Given the description of an element on the screen output the (x, y) to click on. 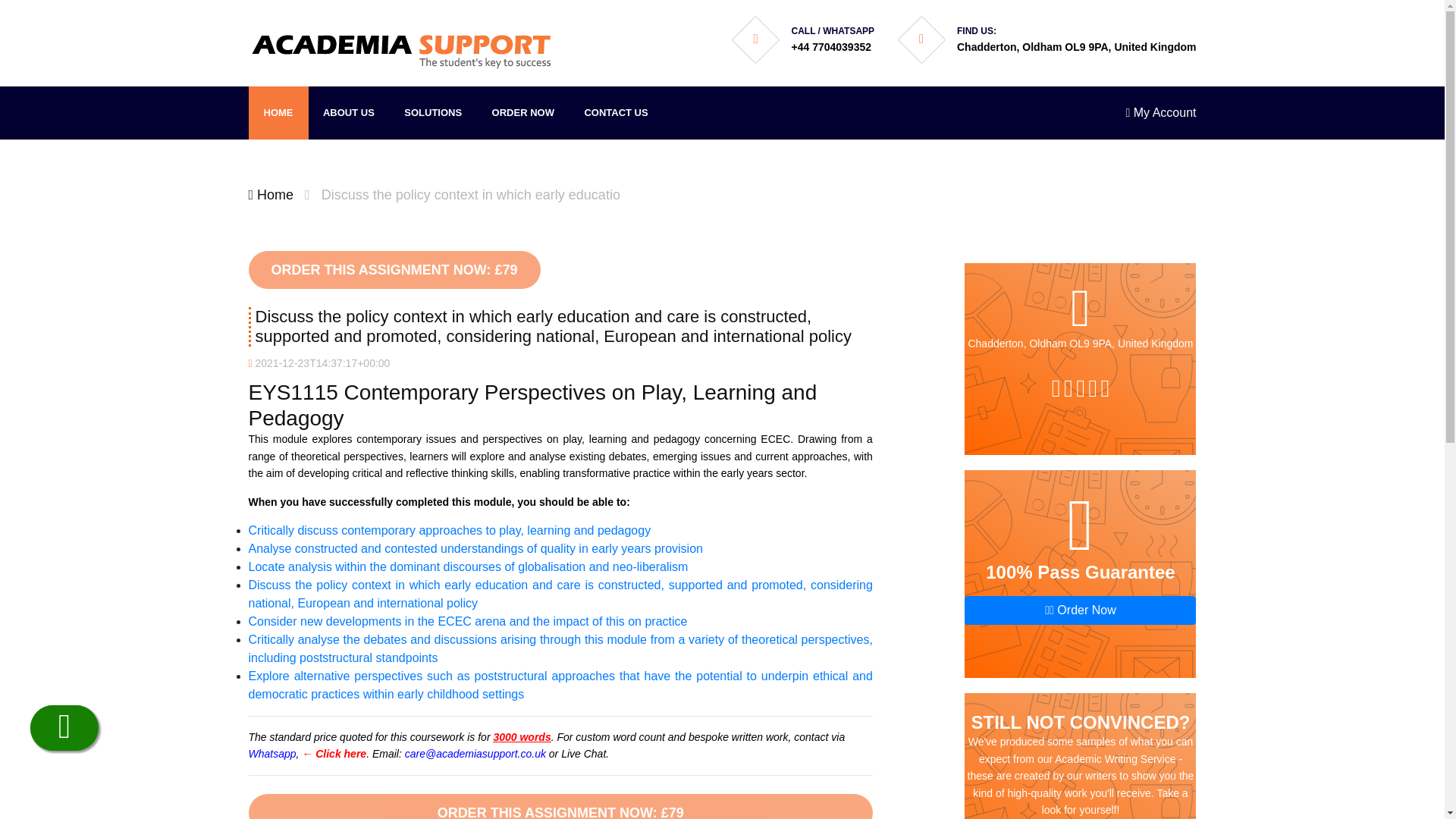
CONTACT US (615, 112)
HOME (278, 112)
SOLUTIONS (432, 112)
ABOUT US (348, 112)
Whatsapp (272, 753)
